Given the description of an element on the screen output the (x, y) to click on. 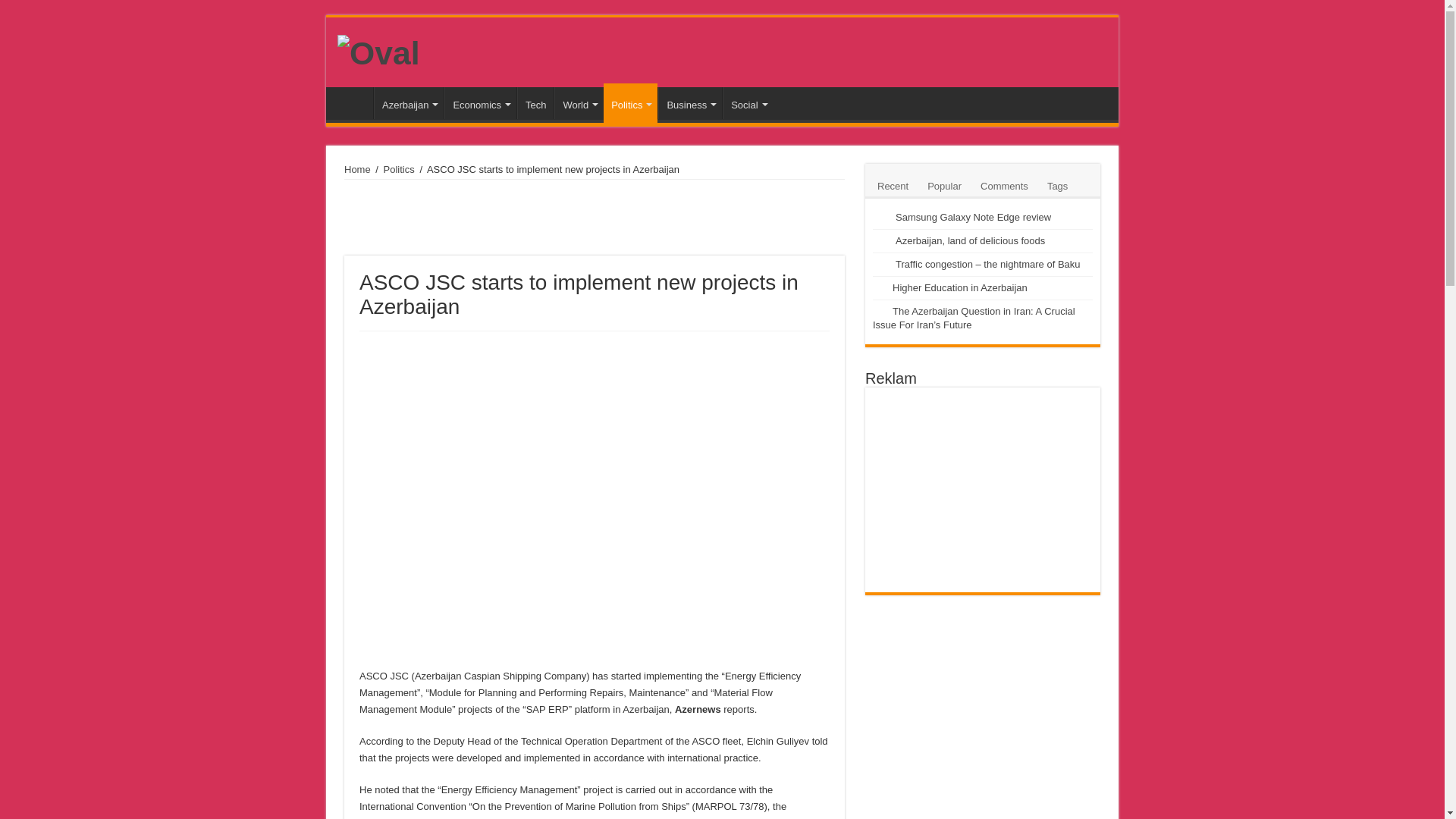
Azerbaijan (409, 102)
World (579, 102)
Home (352, 102)
Oval (378, 50)
Economics (480, 102)
Tech (534, 102)
